Given the description of an element on the screen output the (x, y) to click on. 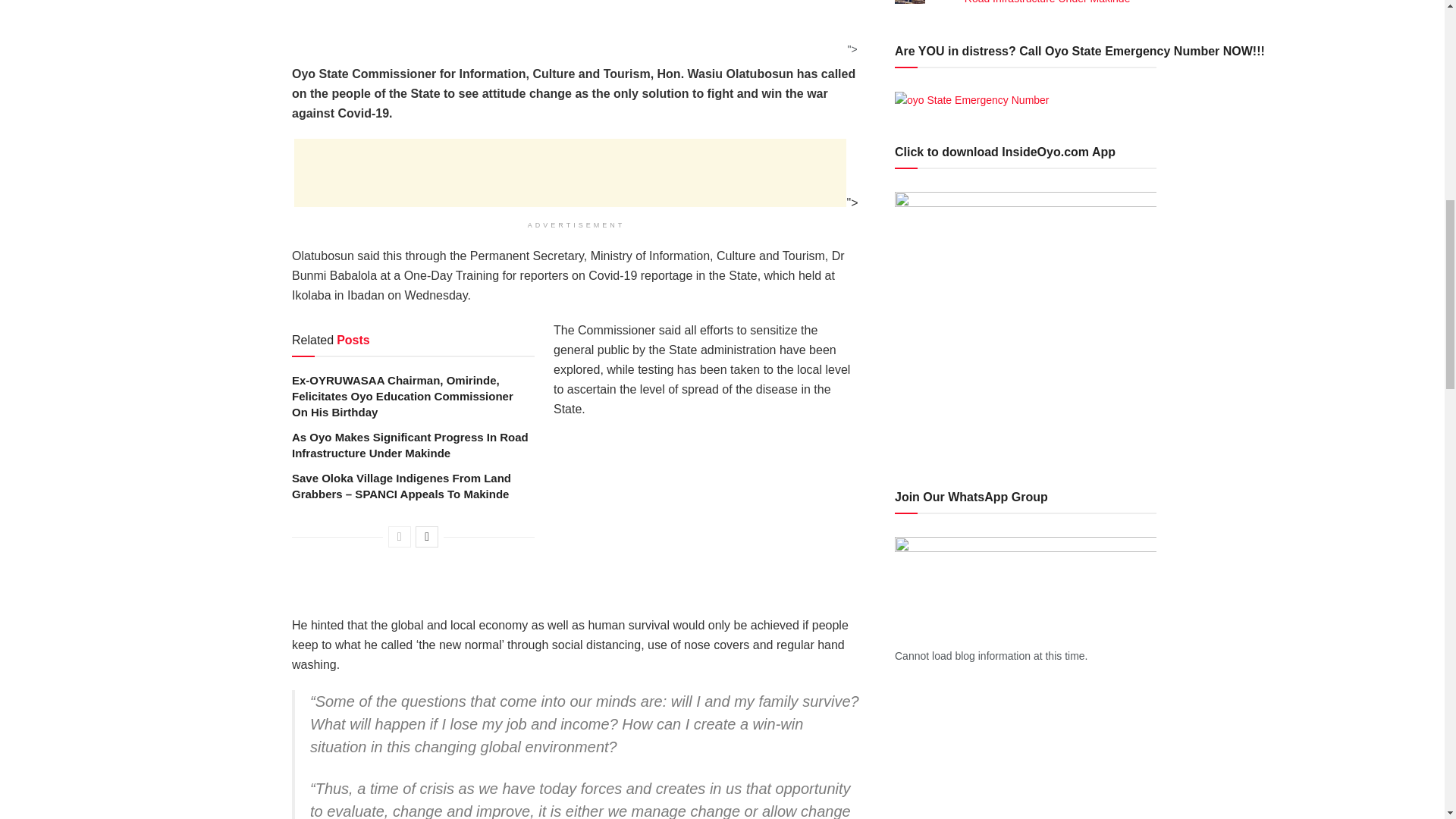
Next (426, 536)
Are YOU in distress? Call Oyo State Emergency Number NOW!!! (972, 99)
Previous (399, 536)
